Given the description of an element on the screen output the (x, y) to click on. 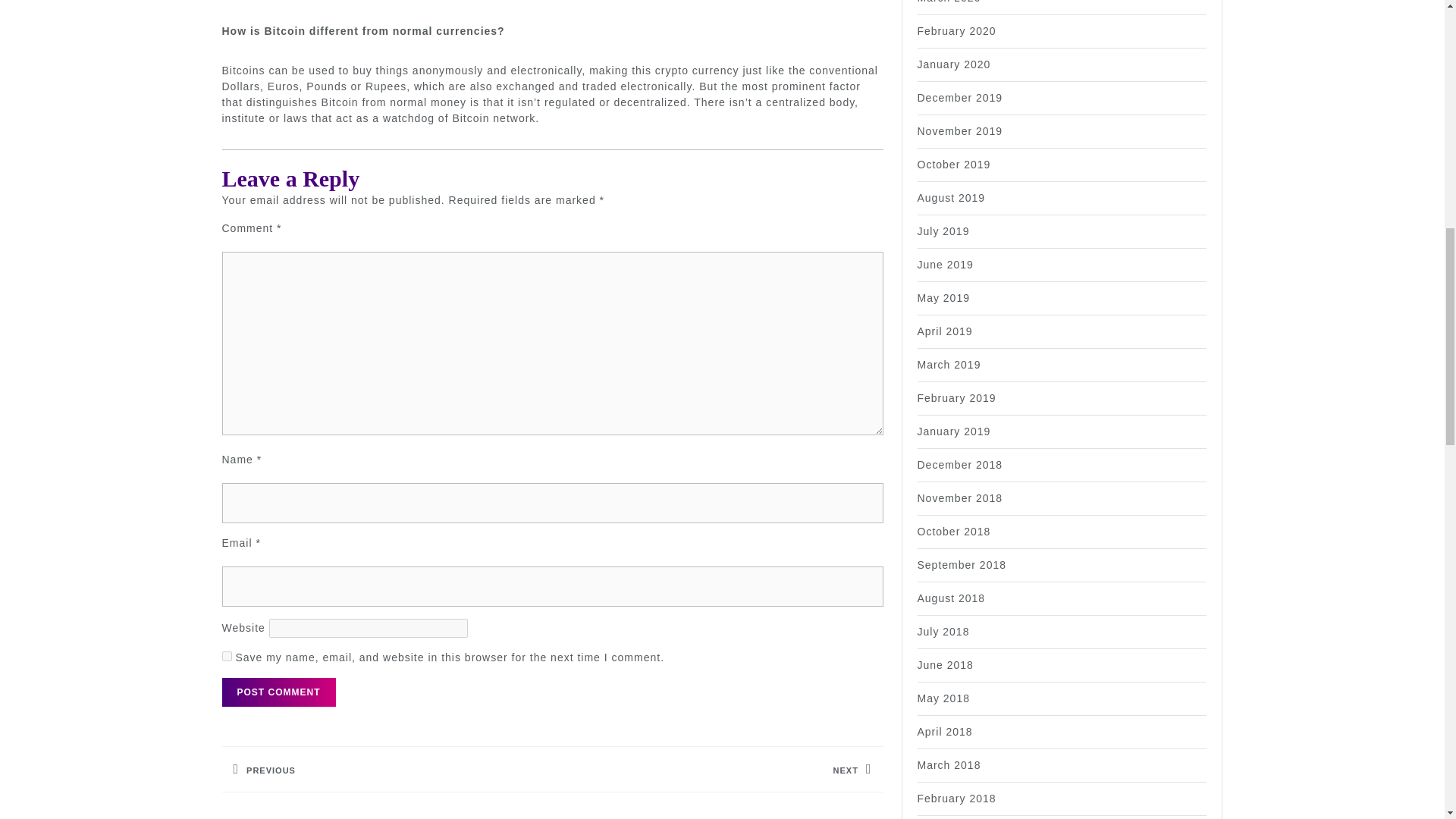
yes (226, 655)
Post Comment (277, 692)
Post Comment (277, 692)
